Given the description of an element on the screen output the (x, y) to click on. 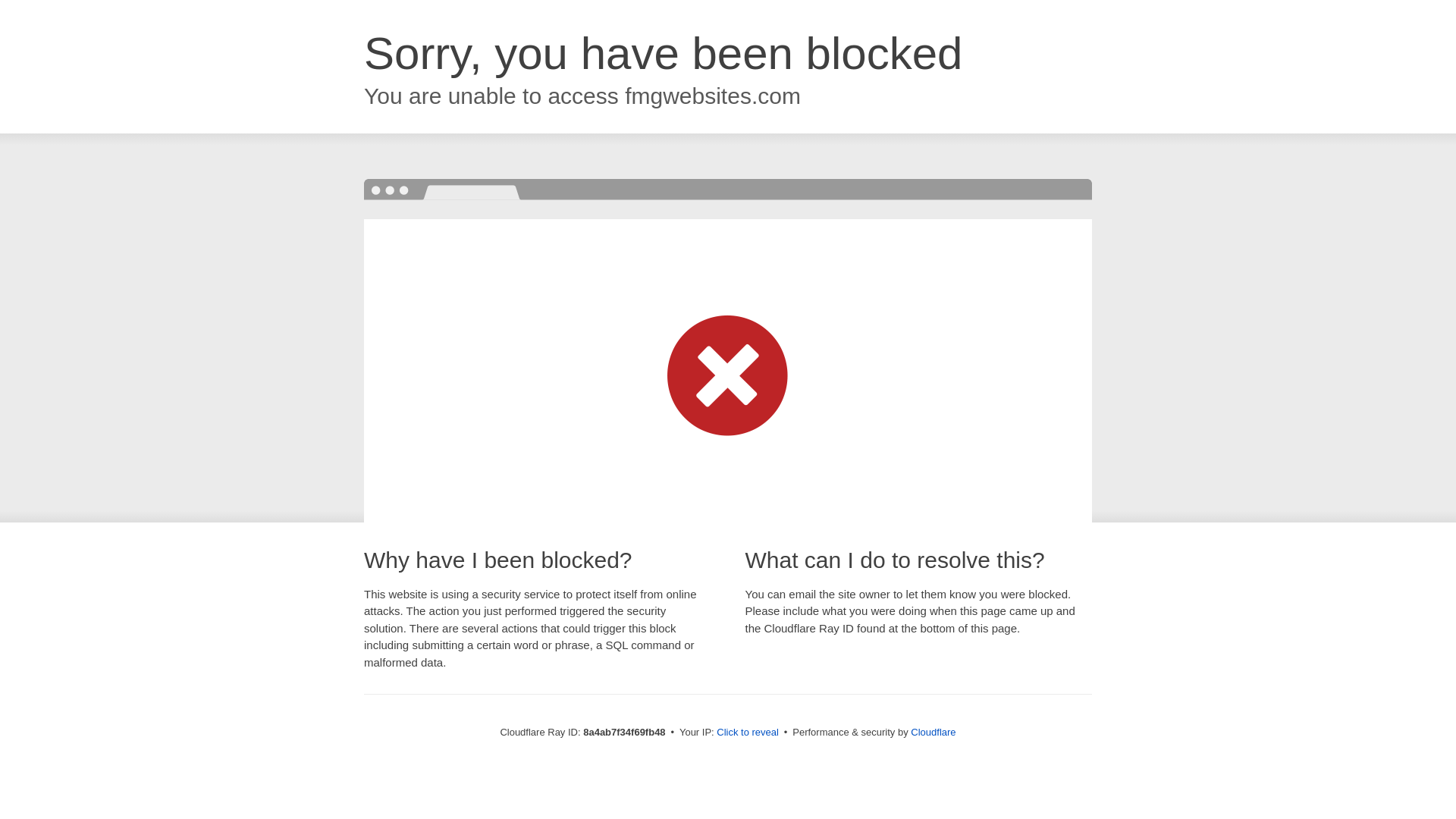
Cloudflare (933, 731)
Click to reveal (747, 732)
